Given the description of an element on the screen output the (x, y) to click on. 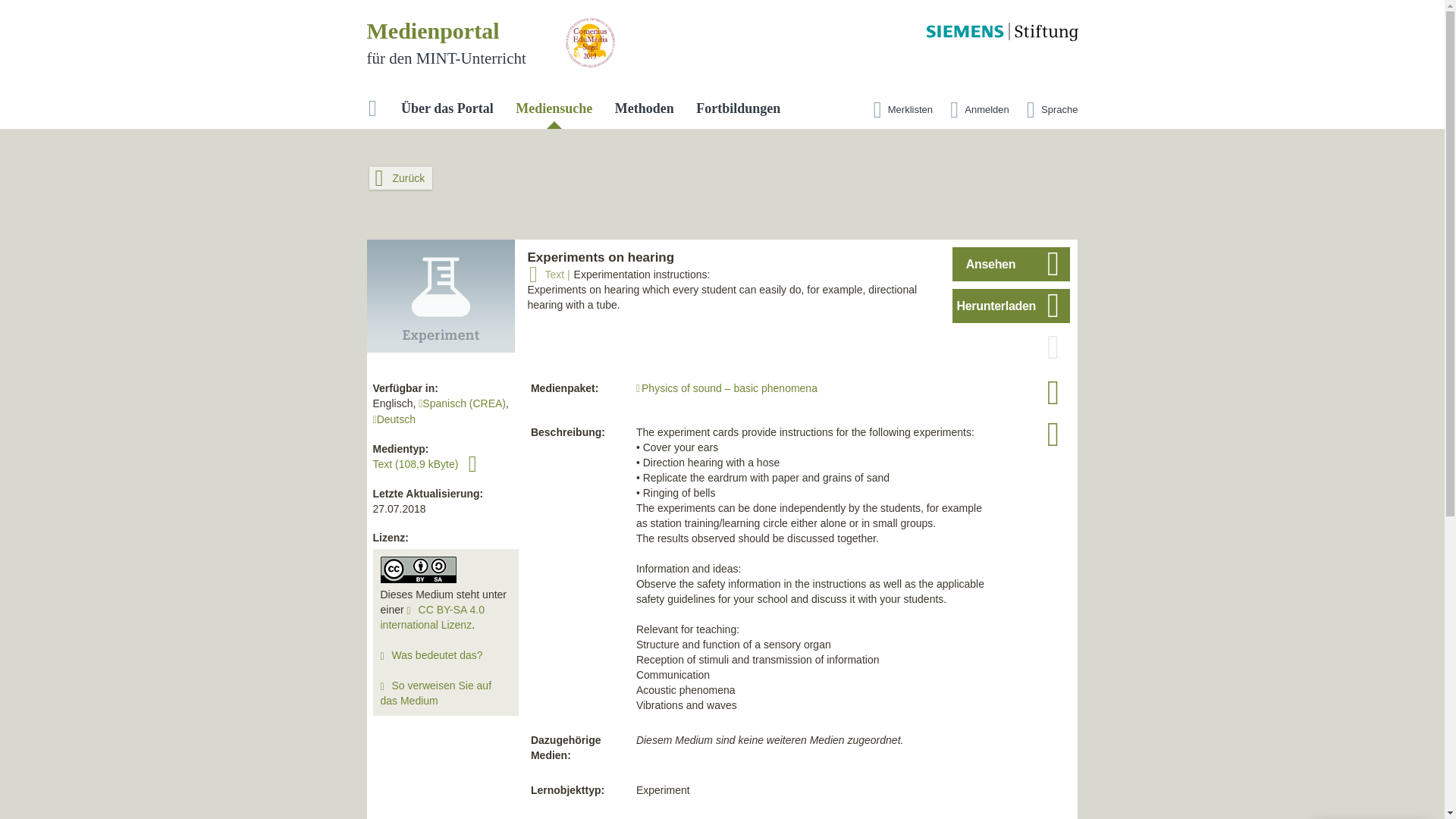
Was bedeutet das? (436, 654)
Fortbildungen (737, 109)
Creative Commons Logo (418, 569)
Klicken, um dieses Medienpaket anzuzeigen (726, 387)
Anmelden (976, 111)
CC BY-SA 4.0 international Lizenz (432, 616)
Methoden (644, 109)
Anmelden (976, 111)
So verweisen Sie auf das Medium (436, 692)
Deutsch (393, 419)
